Given the description of an element on the screen output the (x, y) to click on. 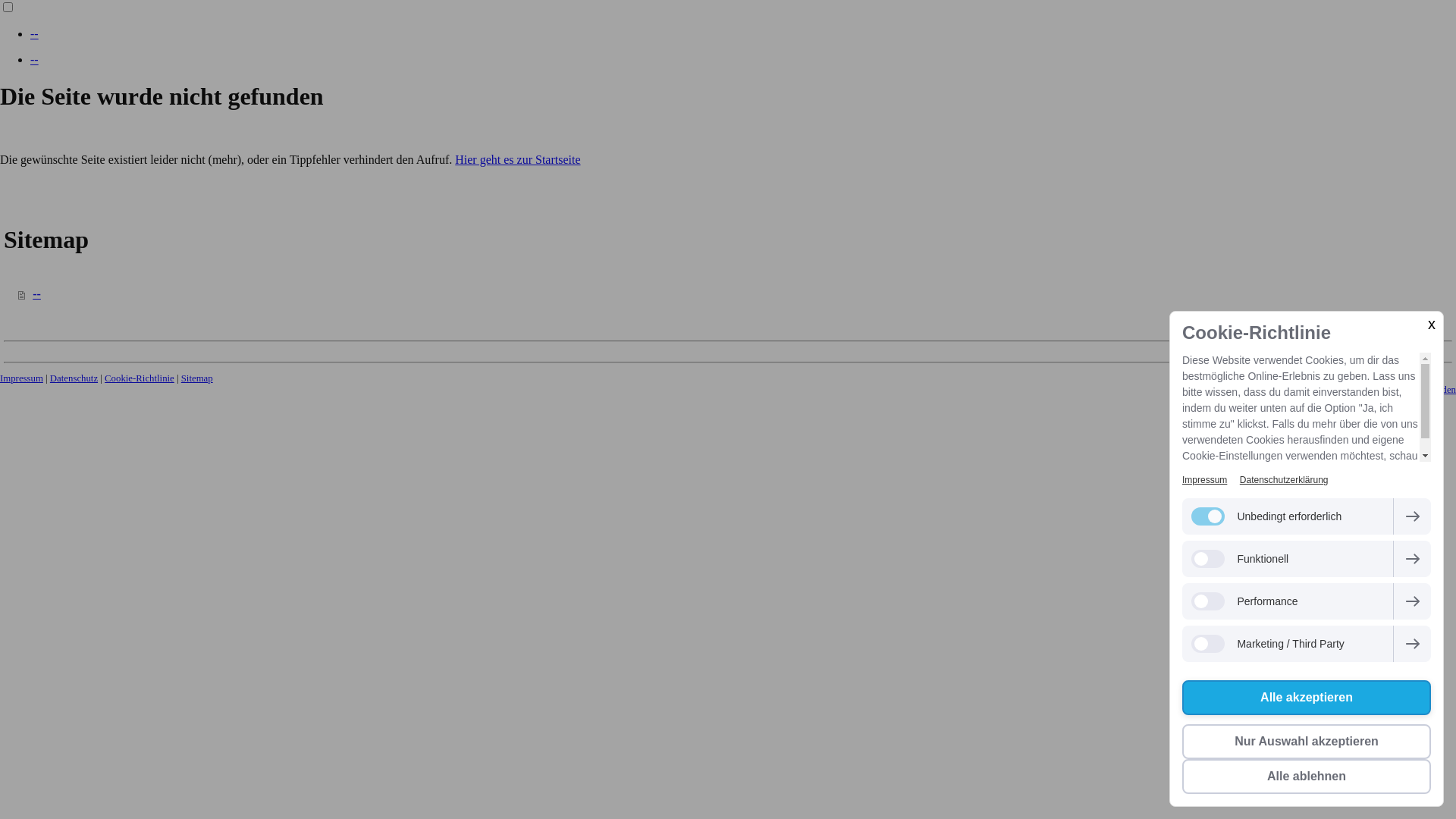
Nur Auswahl akzeptieren Element type: text (1306, 741)
Sitemap Element type: text (197, 378)
Impressum Element type: text (21, 378)
Alle ablehnen Element type: text (1306, 776)
Alle akzeptieren Element type: text (1306, 697)
Hier geht es zur Startseite Element type: text (517, 159)
Datenschutz Element type: text (73, 378)
Cookie-Richtlinie Element type: text (139, 378)
-- Element type: text (34, 59)
Impressum Element type: text (1204, 479)
-- Element type: text (34, 33)
